Given the description of an element on the screen output the (x, y) to click on. 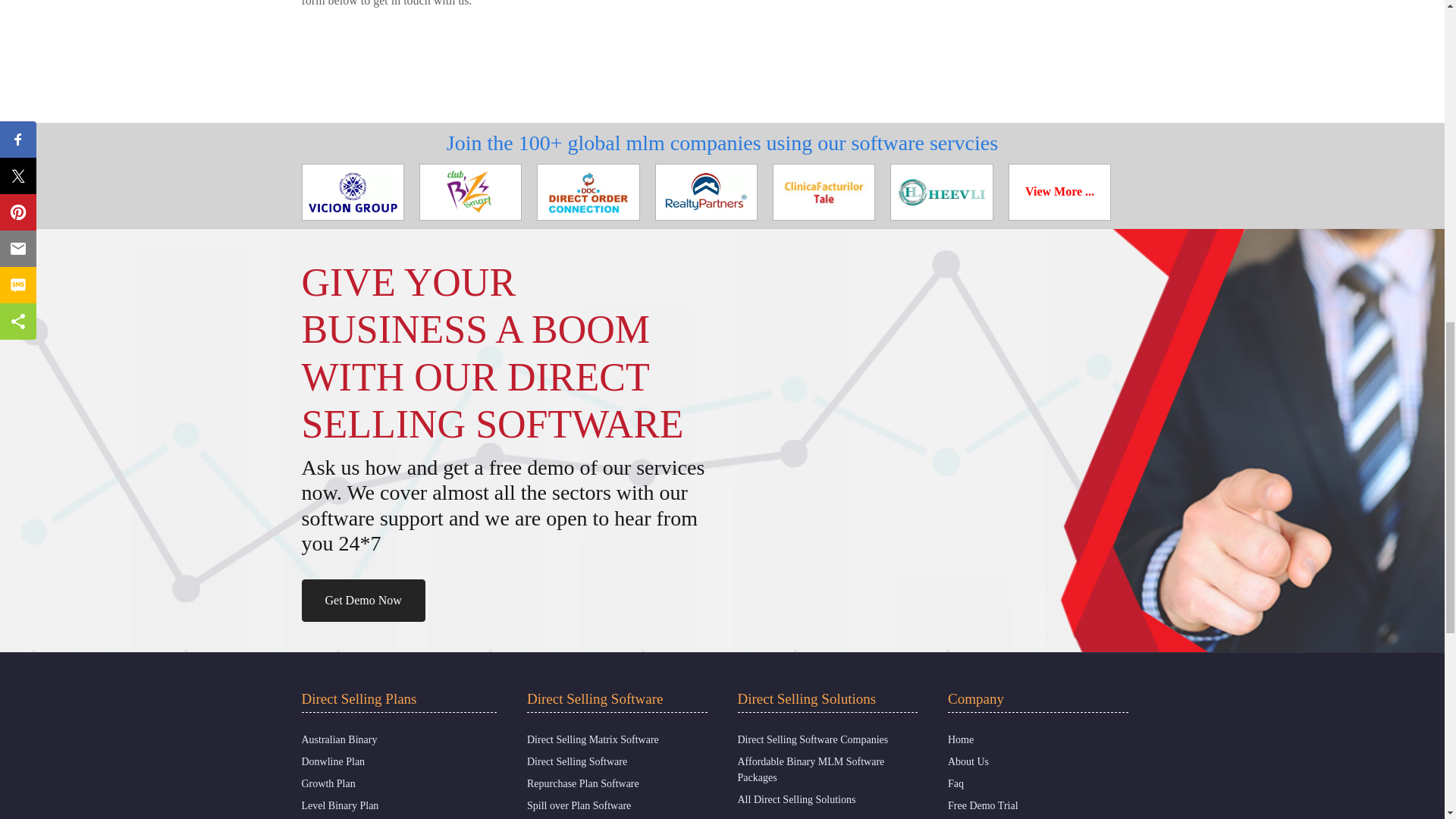
Growth Plan (328, 783)
Australian Binary (339, 739)
View More ... (1059, 191)
Get Demo Now (363, 600)
Direct Selling Matrix Software (593, 739)
Donwline Plan (333, 761)
Level Binary Plan (339, 805)
Direct Selling Software (577, 761)
Repurchase Plan Software (583, 783)
Spill over Plan Software (578, 805)
